Given the description of an element on the screen output the (x, y) to click on. 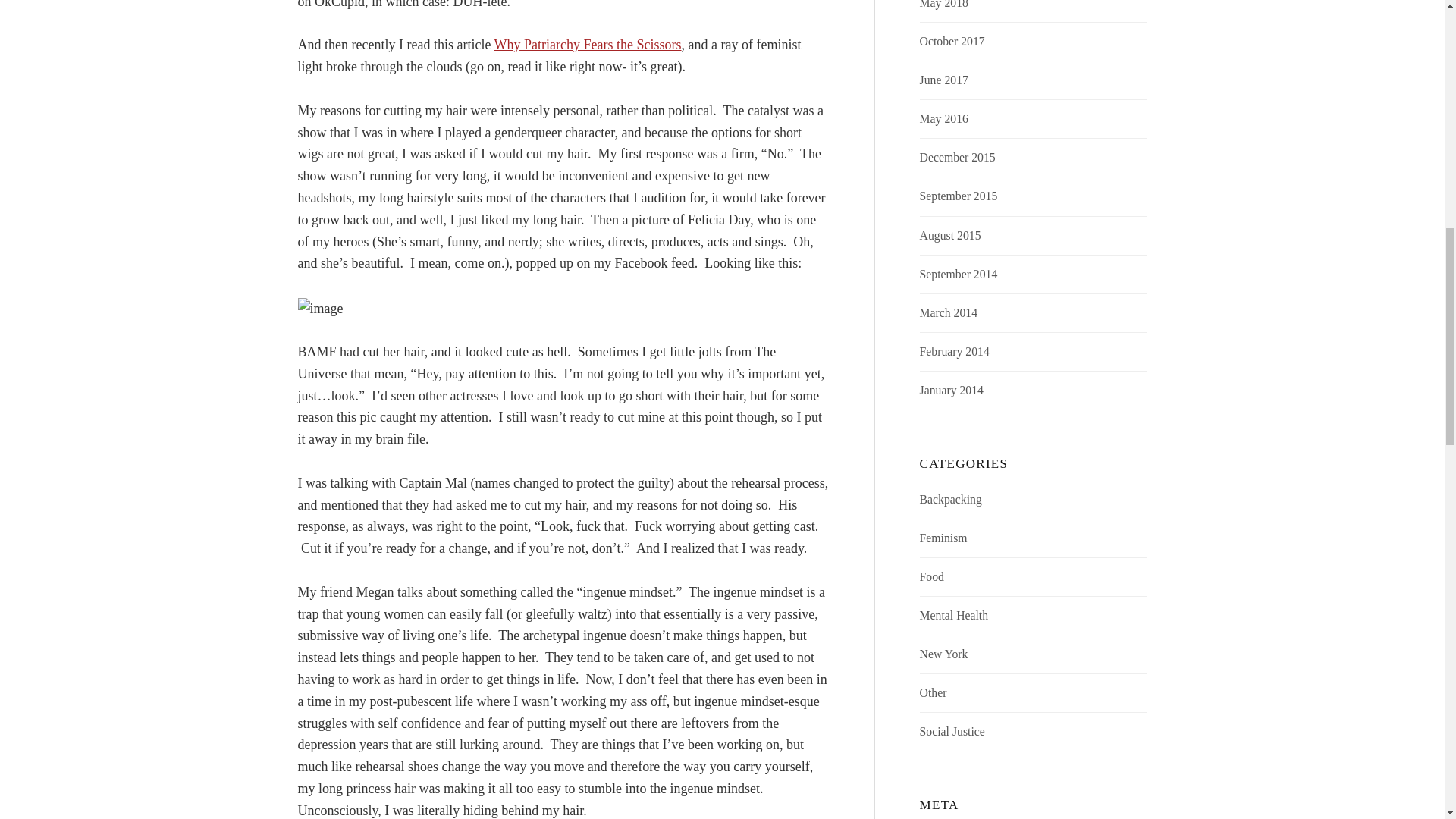
Why Patriarchy Fears the Scissors (588, 44)
February 2014 (955, 350)
June 2017 (944, 79)
Food (931, 576)
October 2017 (952, 41)
May 2016 (944, 118)
September 2014 (958, 273)
Feminism (944, 537)
Backpacking (950, 499)
January 2014 (952, 390)
